Given the description of an element on the screen output the (x, y) to click on. 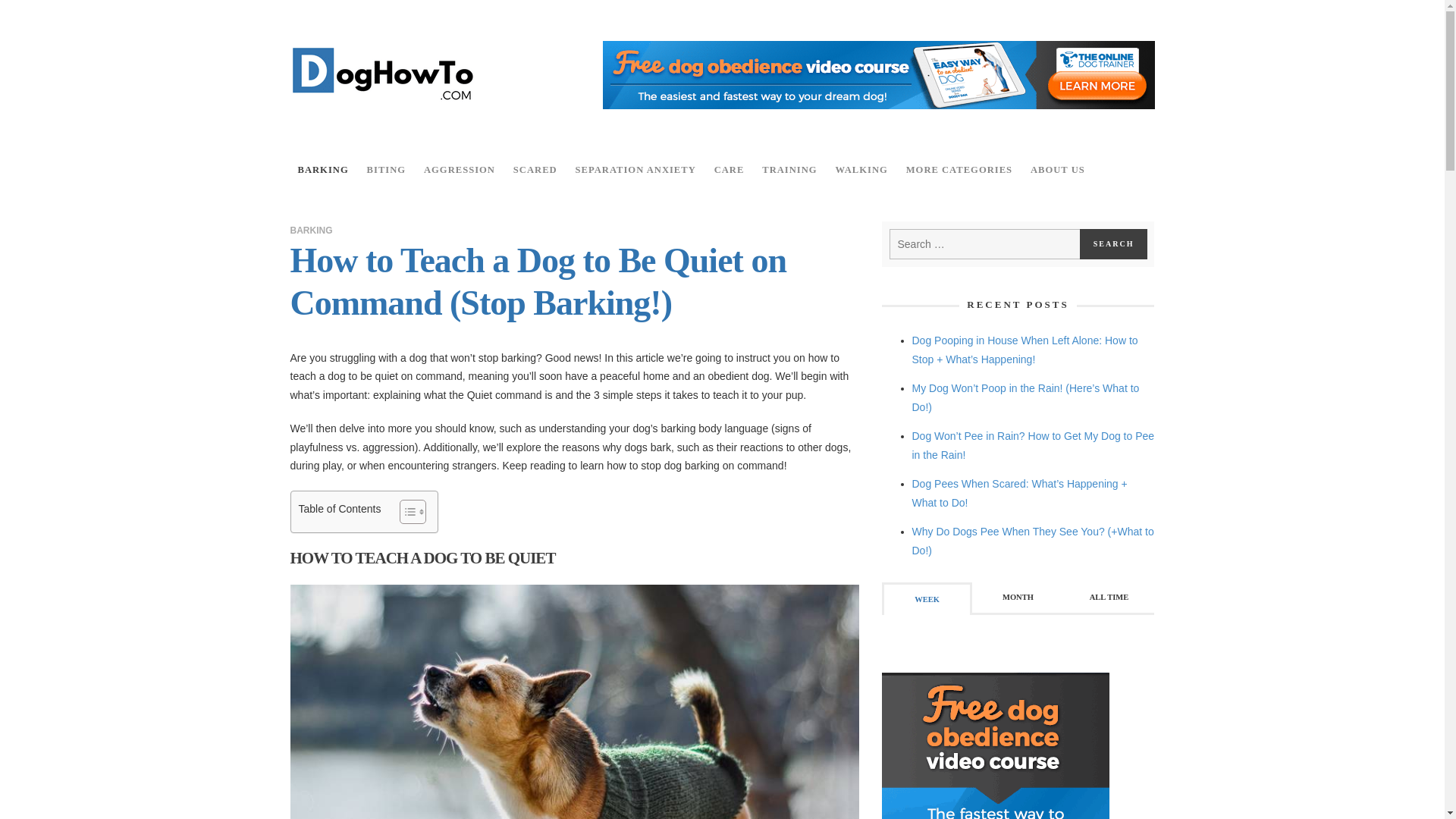
TRAINING (789, 169)
MORE CATEGORIES (959, 169)
SEPARATION ANXIETY (635, 169)
CARE (729, 169)
Search (1114, 244)
BARKING (322, 169)
SCARED (534, 169)
AGGRESSION (459, 169)
WALKING (861, 169)
Search (1114, 244)
